Given the description of an element on the screen output the (x, y) to click on. 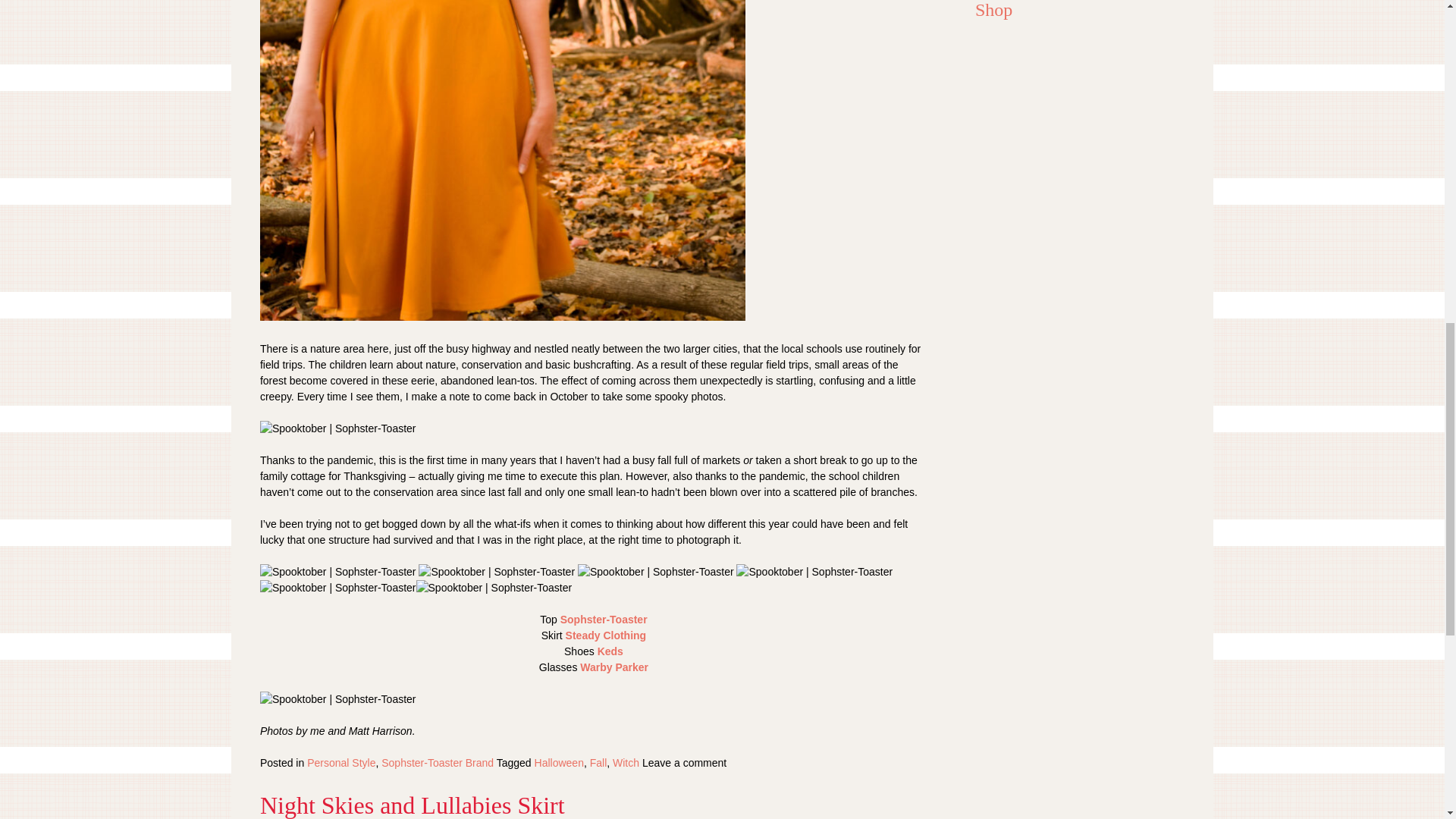
Warby Parker (613, 666)
Keds (609, 651)
Steady Clothing (606, 635)
Personal Style (341, 762)
Sophster-Toaster Brand (437, 762)
Witch (625, 762)
Leave a comment (684, 762)
Fall (598, 762)
Halloween (558, 762)
Night Skies and Lullabies Skirt (412, 805)
